Given the description of an element on the screen output the (x, y) to click on. 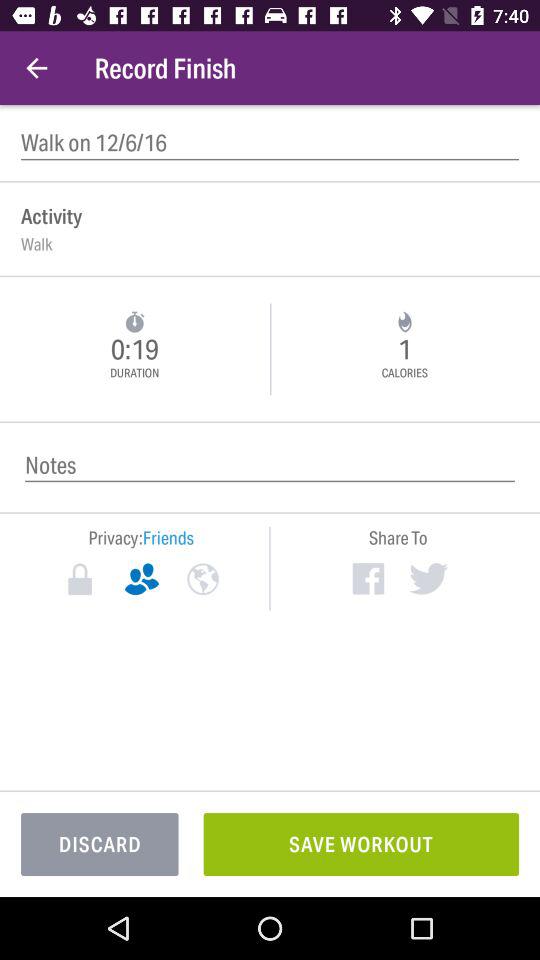
toggle privacy settings (80, 579)
